Given the description of an element on the screen output the (x, y) to click on. 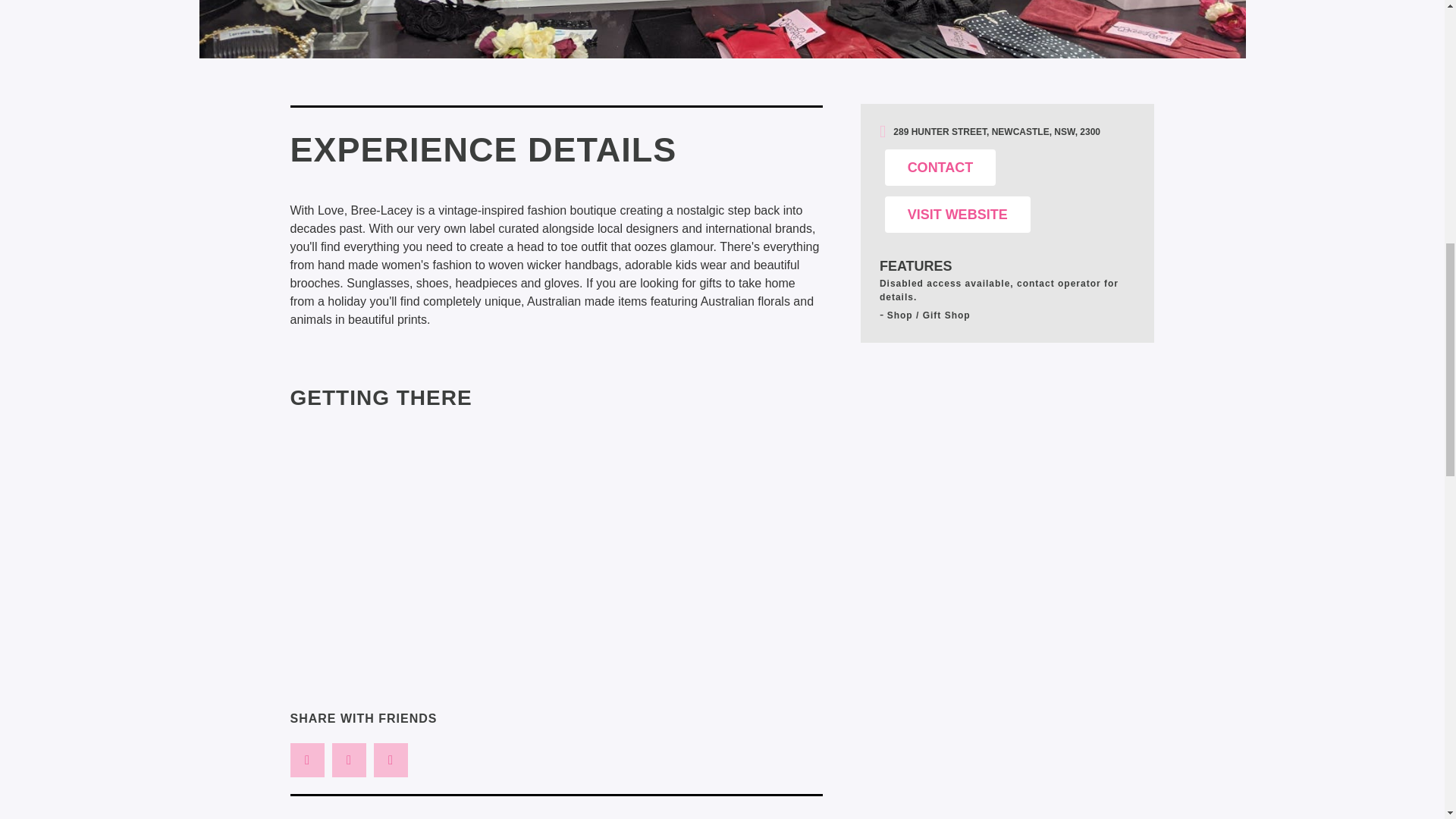
-32.9268427,151.77561319999995 (555, 542)
